Given the description of an element on the screen output the (x, y) to click on. 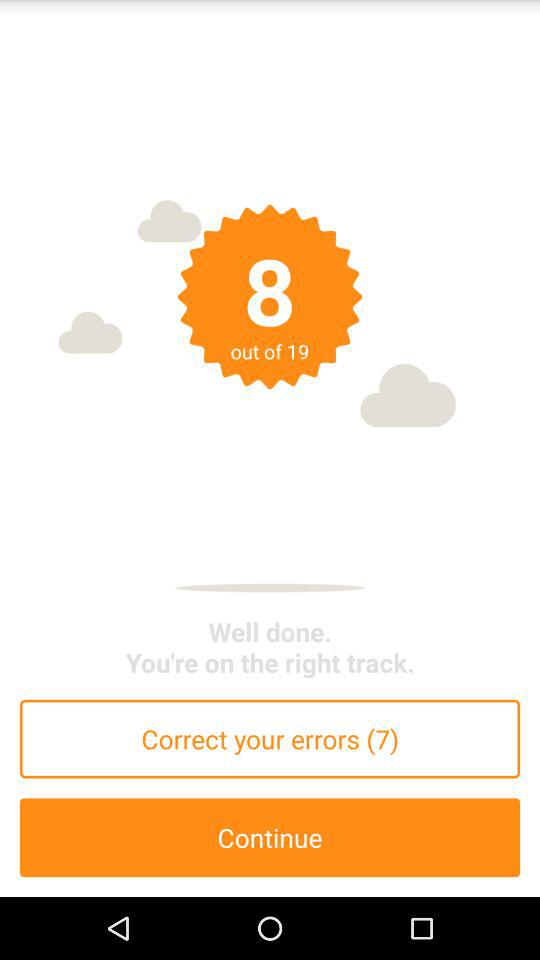
click correct your errors item (269, 738)
